Given the description of an element on the screen output the (x, y) to click on. 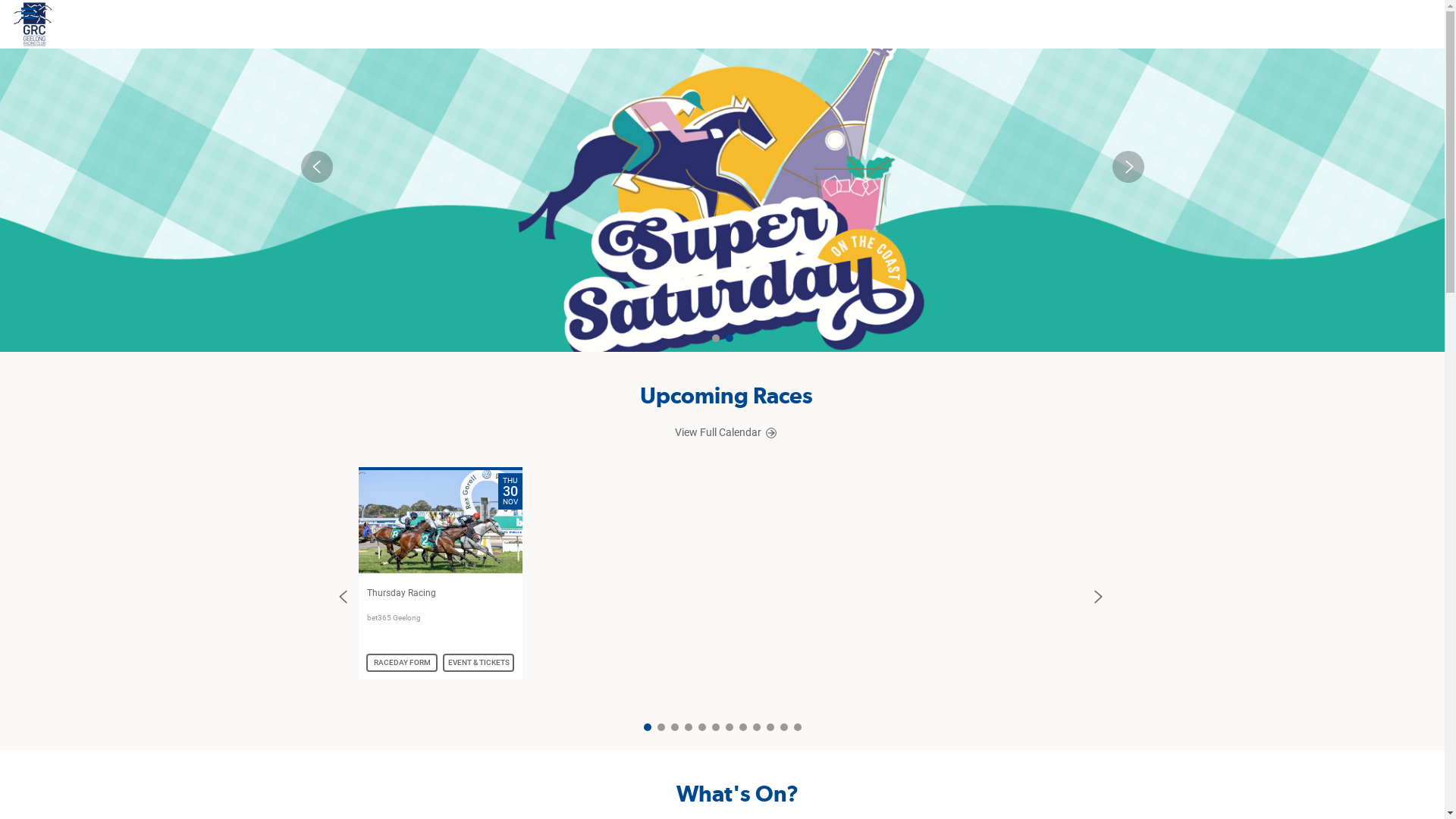
EVENT & TICKETS Element type: text (478, 662)
RACEDAY FORM Element type: text (401, 662)
View Full Calendar Element type: text (725, 432)
